Given the description of an element on the screen output the (x, y) to click on. 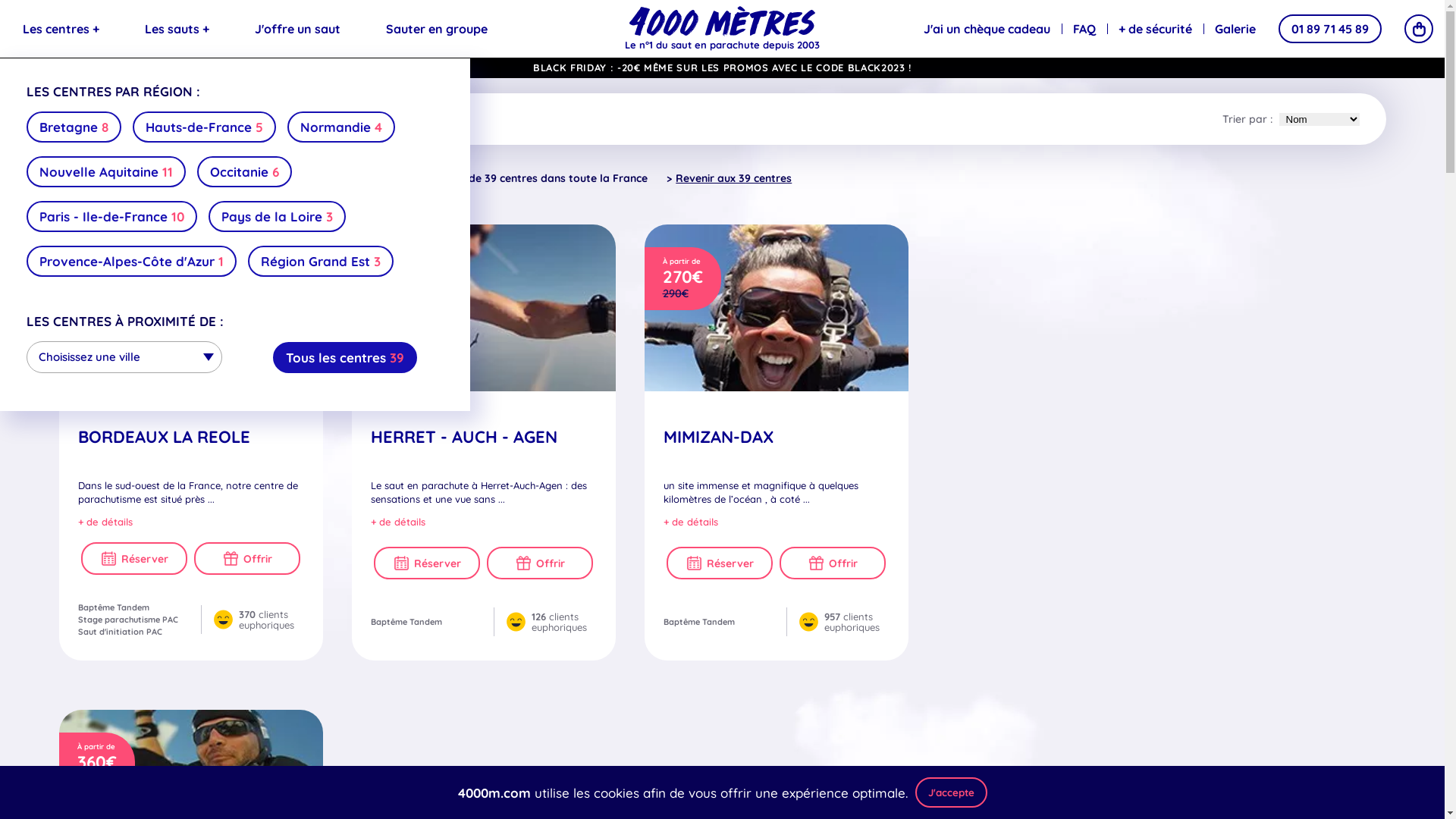
J'accepte Element type: text (950, 792)
Sauter en groupe Element type: text (436, 28)
FAQ Element type: text (1084, 28)
Bretagne 8 Element type: text (73, 126)
Normandie 4 Element type: text (341, 126)
Occitanie 6 Element type: text (244, 171)
Hauts-de-France 5 Element type: text (204, 126)
X
BAYONNE Element type: text (262, 177)
Offrir Element type: text (832, 562)
Revenir aux 39 centres Element type: text (728, 178)
Les sauts + Element type: text (177, 28)
Offrir Element type: text (247, 558)
Pays de la Loire 3 Element type: text (276, 216)
Offrir Element type: text (539, 562)
Nouvelle Aquitaine 11 Element type: text (105, 171)
J'offre un saut Element type: text (297, 28)
01 89 71 45 89 Element type: text (1329, 28)
Les centres + Element type: text (61, 28)
Paris - Ile-de-France 10 Element type: text (111, 216)
Galerie Element type: text (1235, 28)
Tous les centres 39 Element type: text (345, 356)
